Given the description of an element on the screen output the (x, y) to click on. 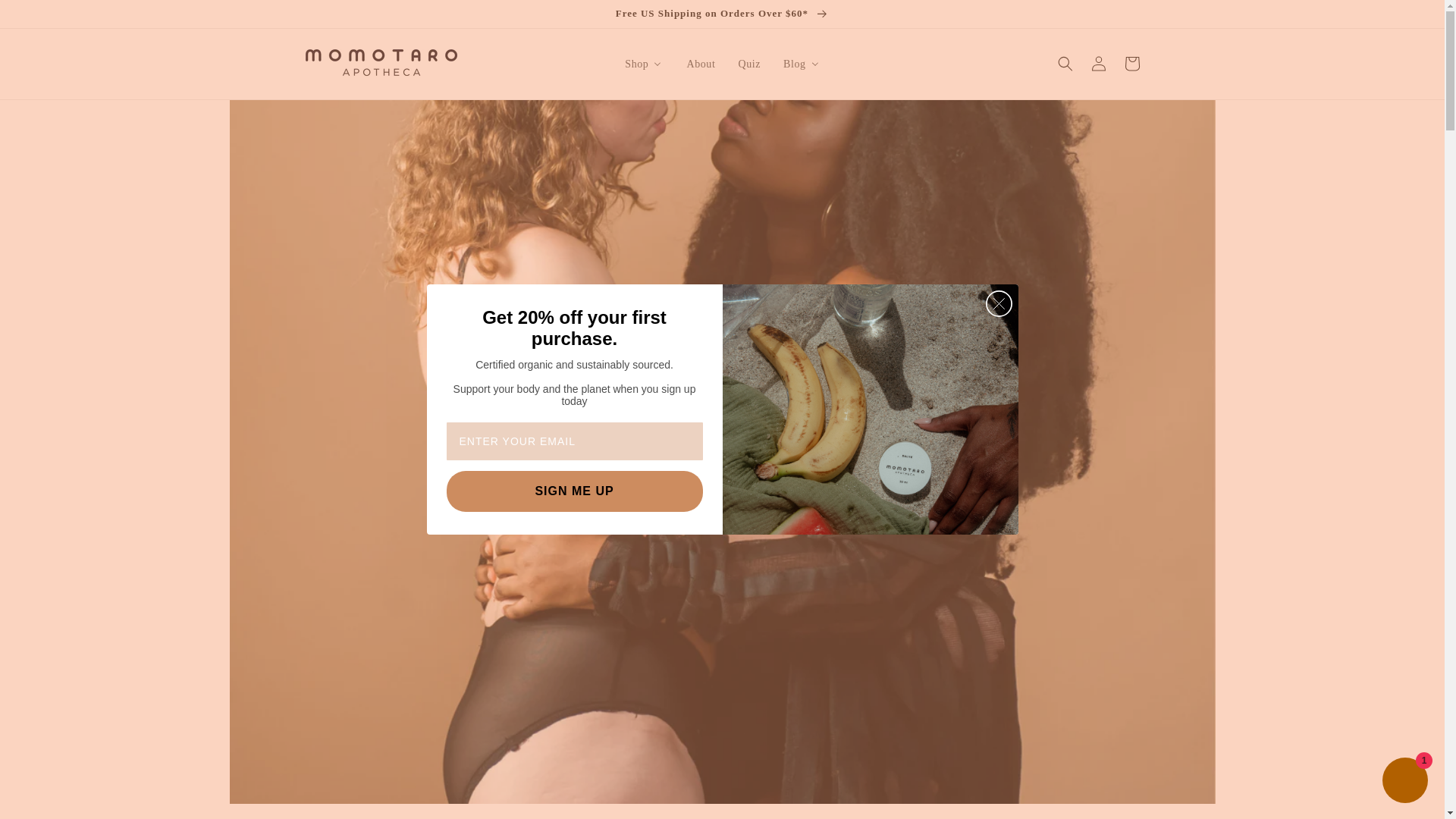
Shopify online store chat (1404, 781)
Skip to content (22, 9)
Close dialog 1 (998, 303)
